Given the description of an element on the screen output the (x, y) to click on. 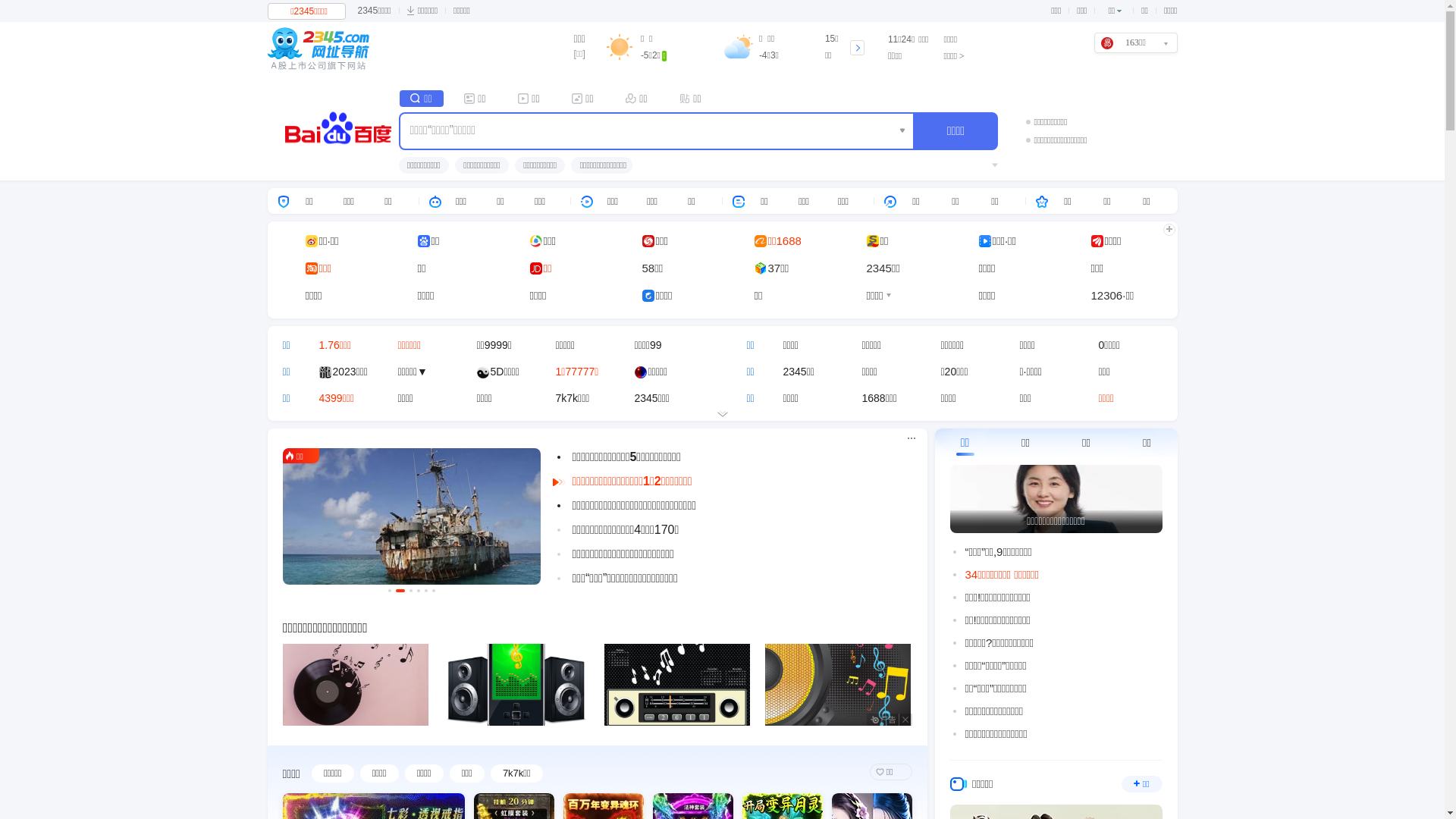
12306 Element type: text (1106, 295)
